Given the description of an element on the screen output the (x, y) to click on. 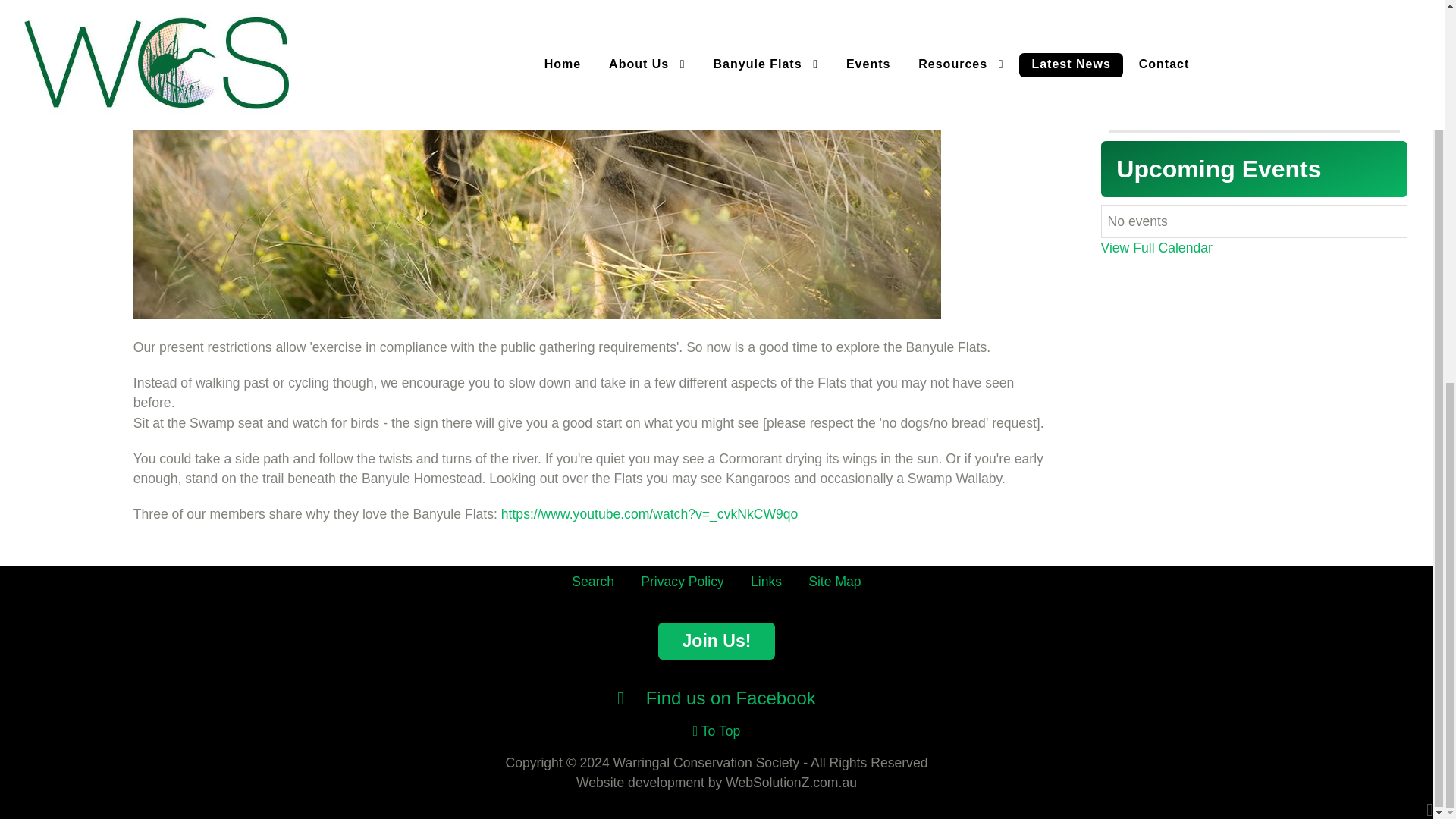
Find us on Facebook (716, 697)
WebSolutionZ.com.au (791, 782)
Search (593, 581)
Find us on Facebook (716, 697)
Join Us! (717, 641)
Privacy Policy (681, 581)
To Top (717, 730)
Click here to Email us (1229, 87)
Site Map (834, 581)
Links (766, 581)
View Full Calendar (1156, 247)
